Given the description of an element on the screen output the (x, y) to click on. 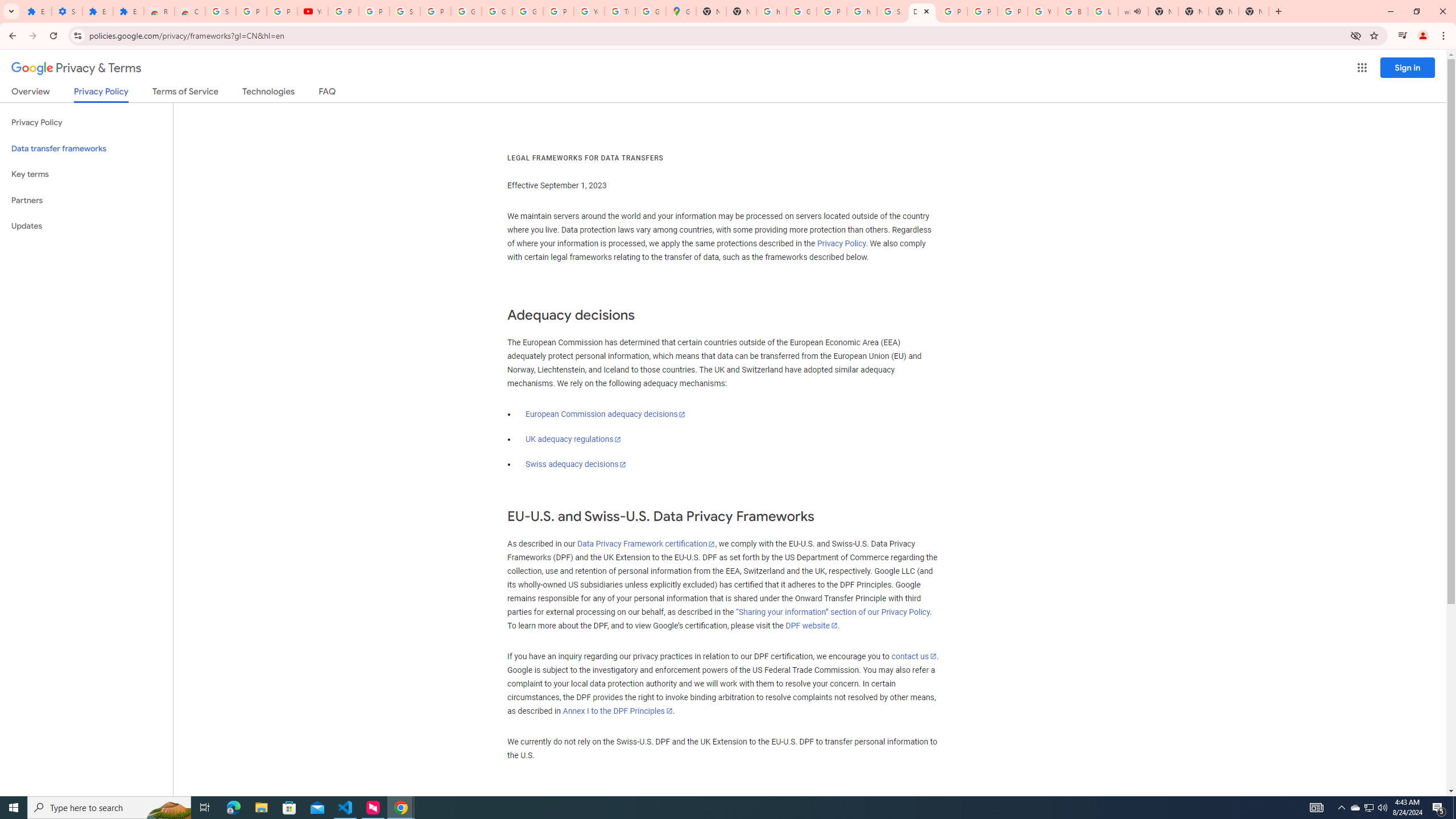
Google Account (465, 11)
Google Account (496, 11)
